Given the description of an element on the screen output the (x, y) to click on. 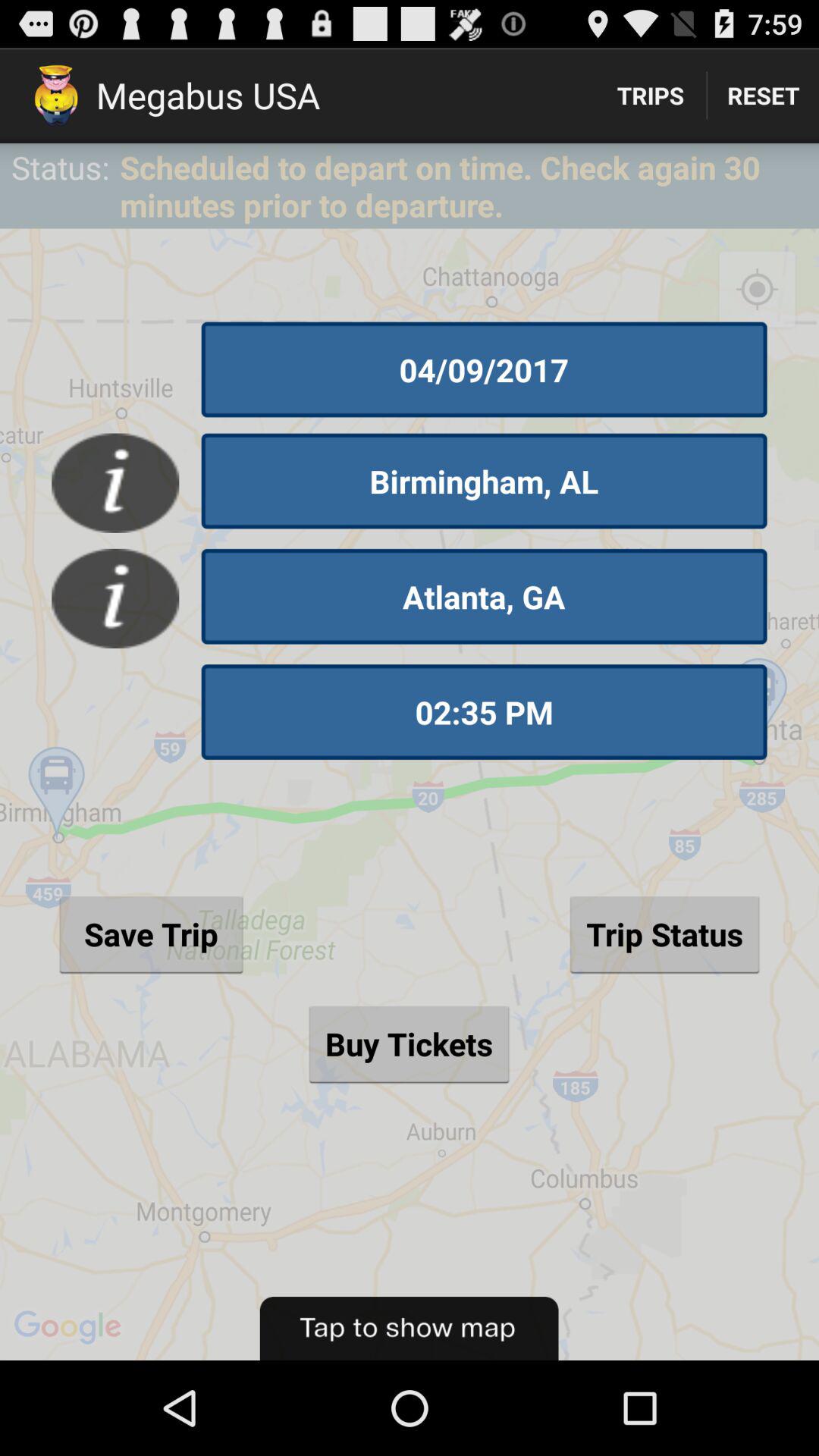
turn off the trip status on the right (664, 934)
